Given the description of an element on the screen output the (x, y) to click on. 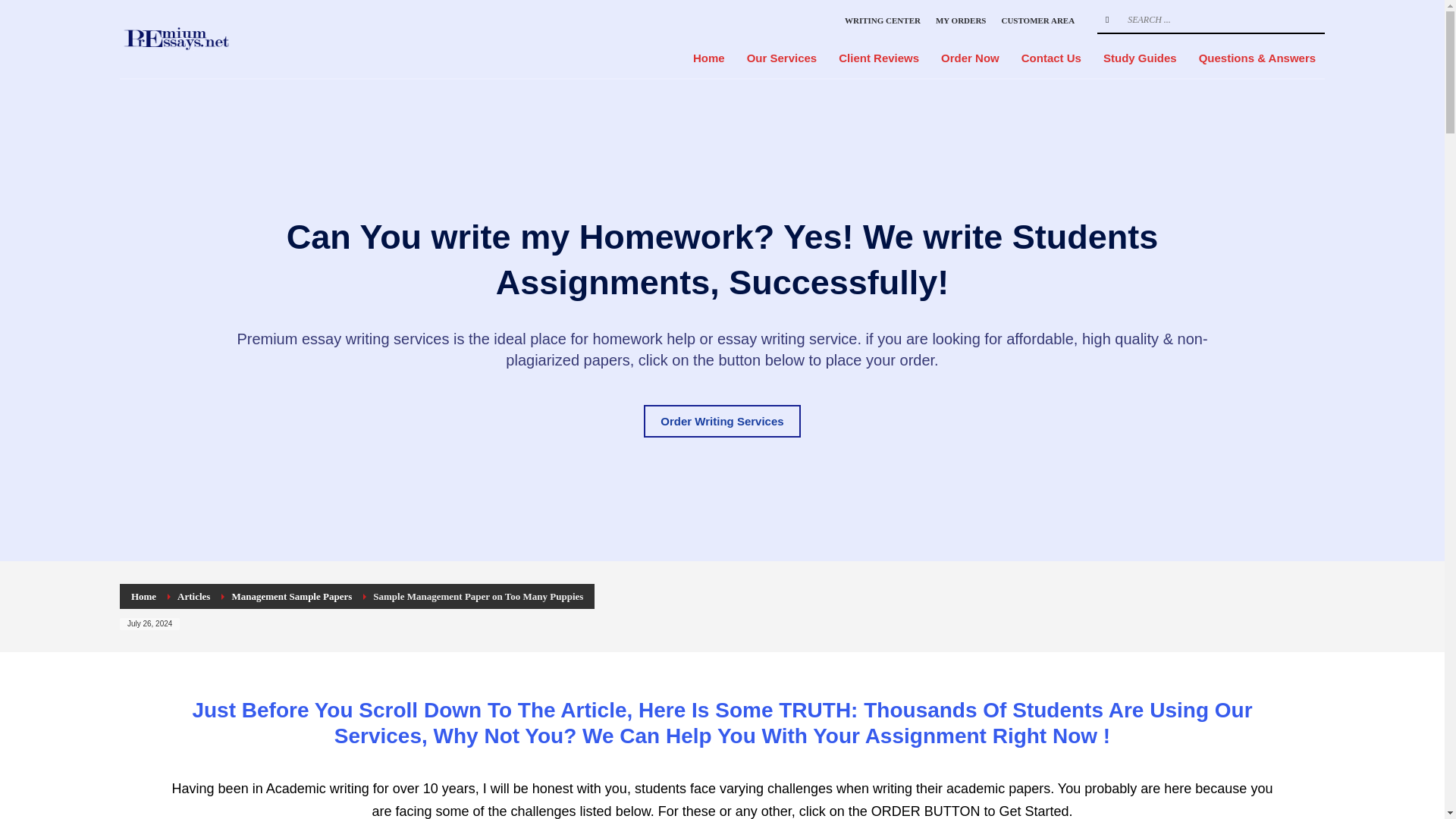
Our Services (782, 57)
Home (708, 57)
Articles (193, 595)
WRITING CENTER (882, 20)
Client Reviews (878, 57)
MY ORDERS (961, 20)
Contact Us (1050, 57)
go (1107, 19)
Order Writing Services (721, 420)
Homework Help (213, 38)
Articles (193, 595)
CUSTOMER AREA (1037, 20)
Study Guides (1140, 57)
Order Now (970, 57)
Management Sample Papers (291, 595)
